Given the description of an element on the screen output the (x, y) to click on. 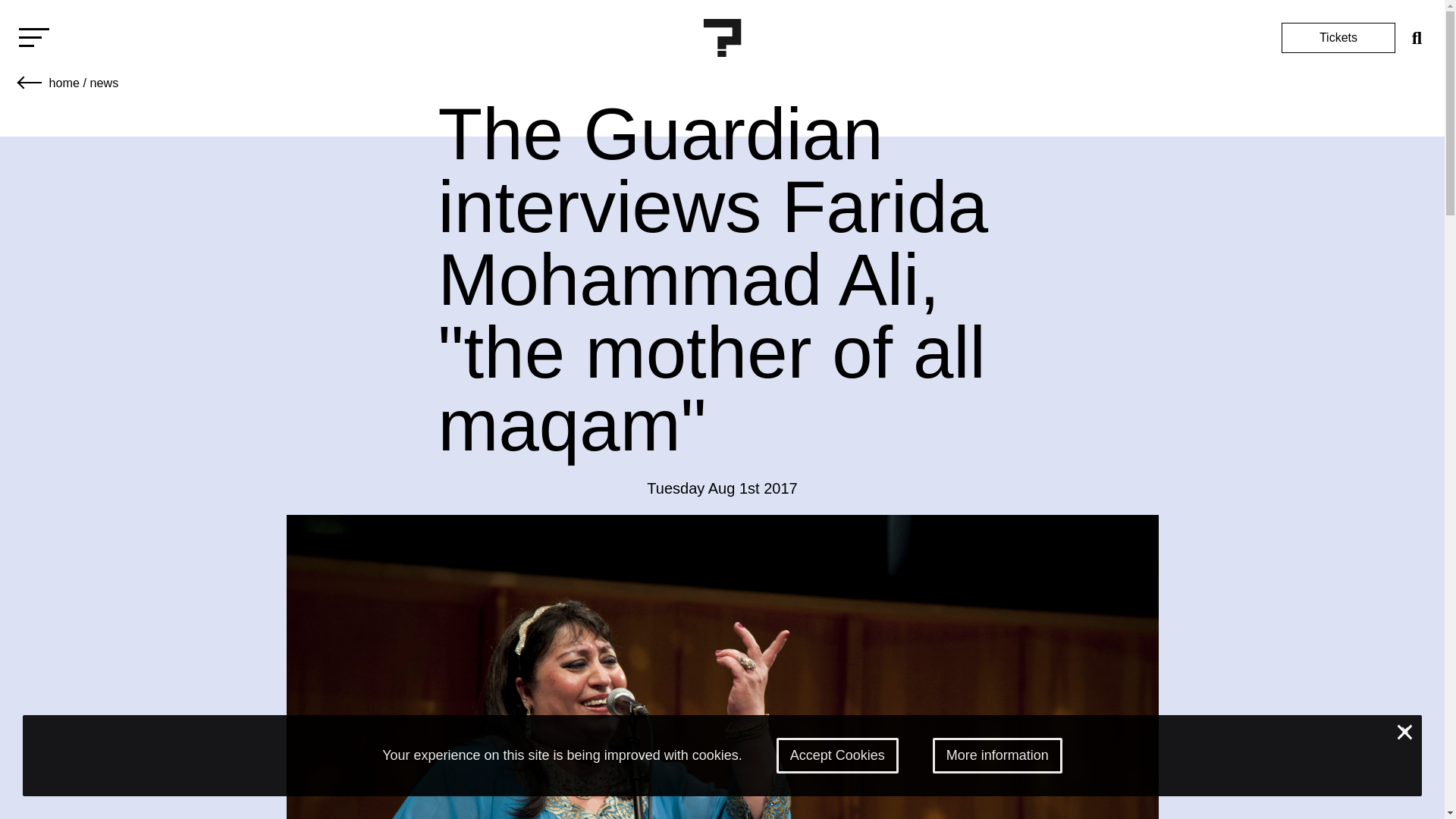
Tickets (1337, 37)
news (102, 82)
home (64, 82)
